Given the description of an element on the screen output the (x, y) to click on. 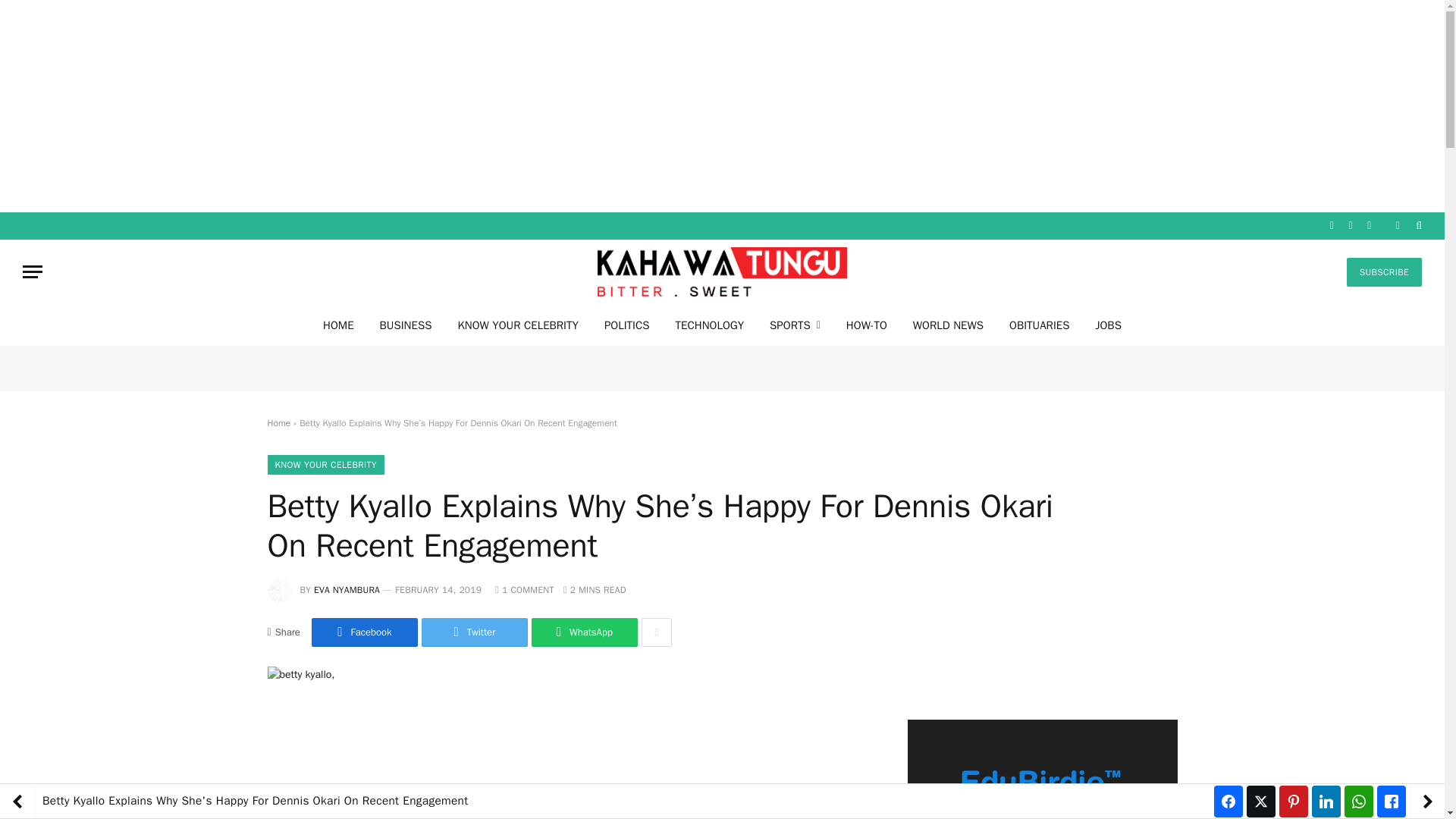
KahawaTungu (721, 271)
HOW-TO (865, 324)
POLITICS (626, 324)
Share on Facebook (364, 632)
Switch to Dark Design - easier on eyes. (1397, 225)
JOBS (1107, 324)
KNOW YOUR CELEBRITY (517, 324)
1 COMMENT (524, 589)
KNOW YOUR CELEBRITY (325, 465)
